Given the description of an element on the screen output the (x, y) to click on. 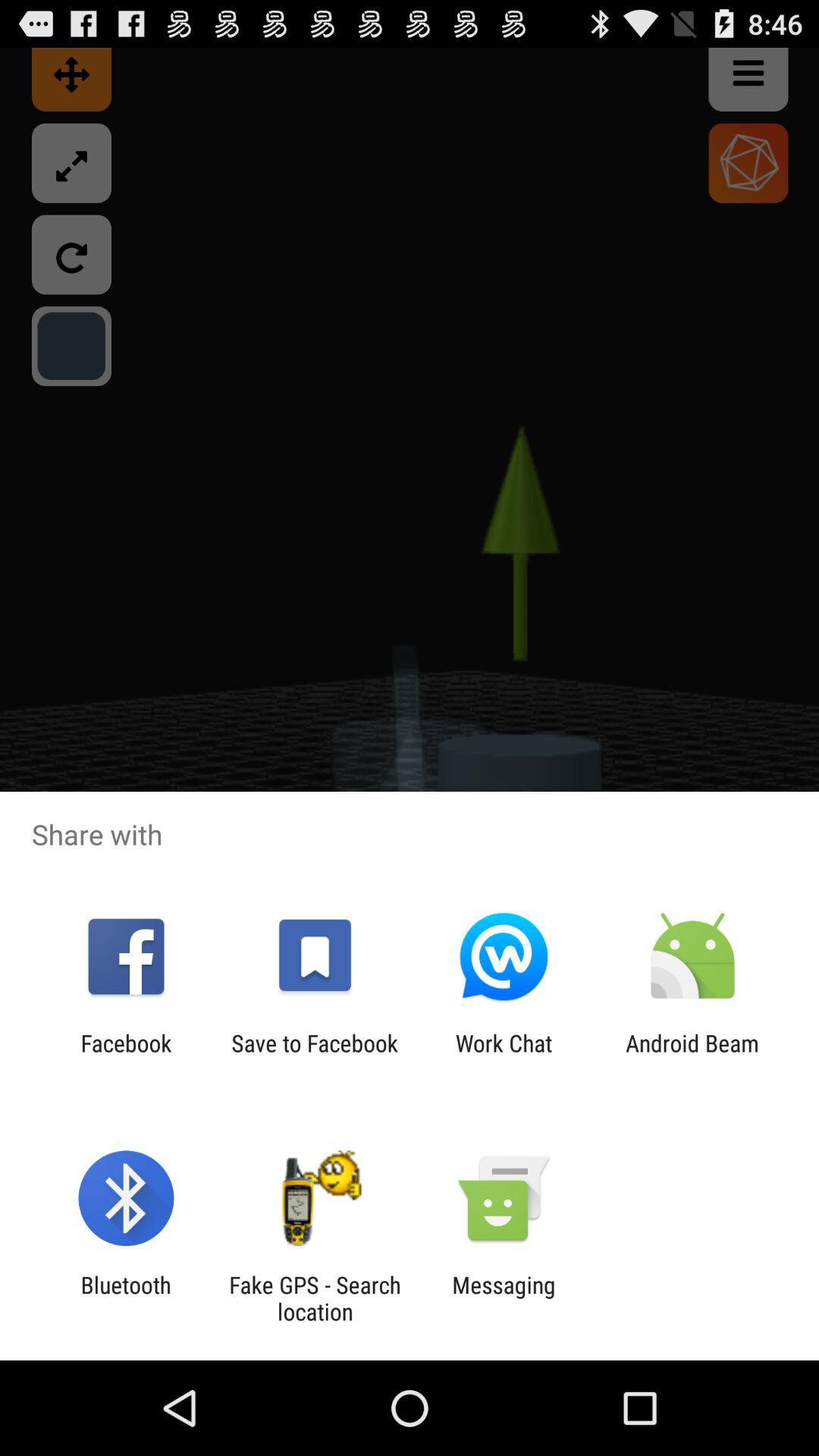
turn on save to facebook app (314, 1056)
